Given the description of an element on the screen output the (x, y) to click on. 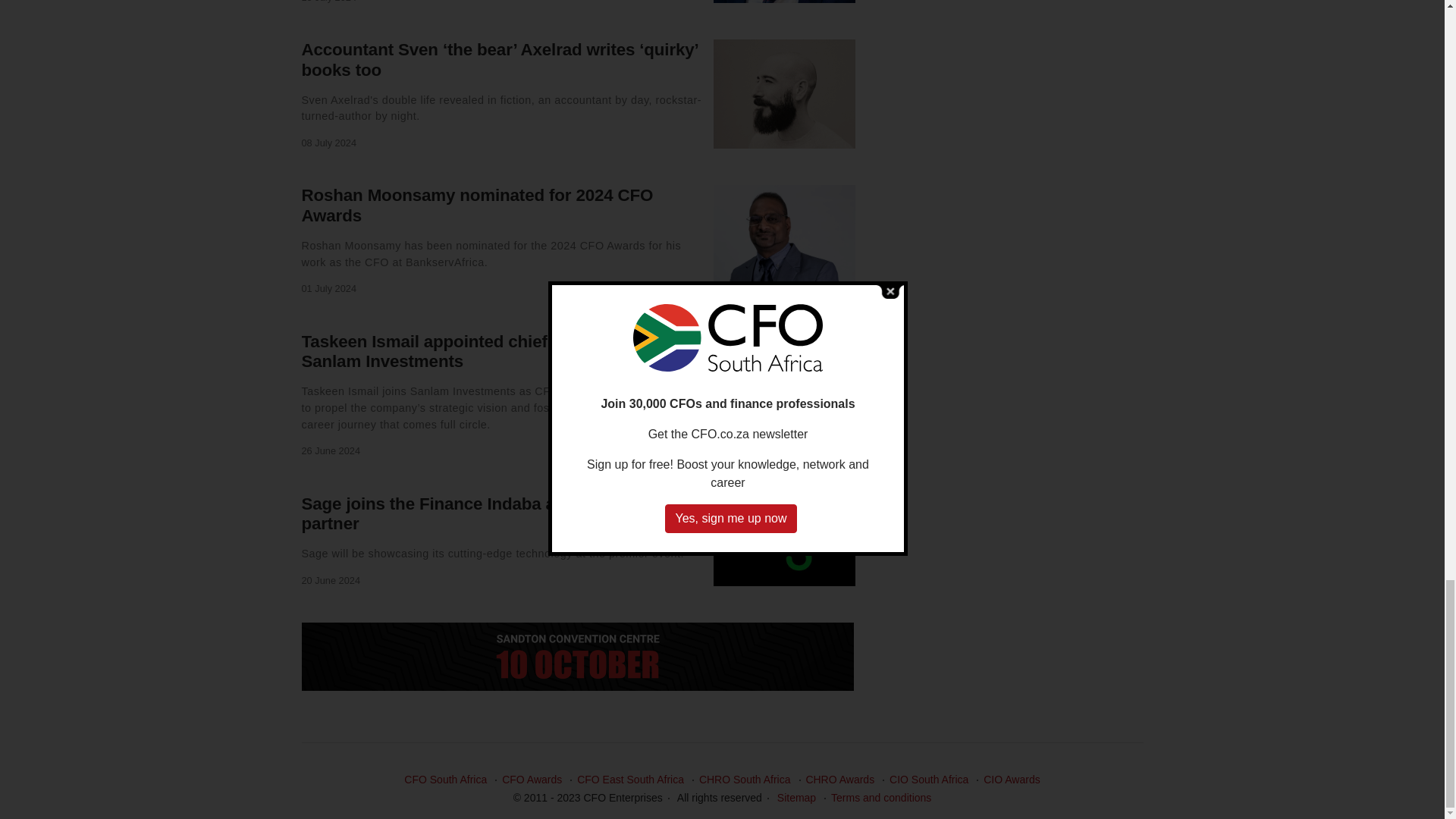
Roshan Moonsamy nominated for 2024 CFO Awards (477, 205)
Sage joins the Finance Indaba as a platinum partner (476, 513)
